Given the description of an element on the screen output the (x, y) to click on. 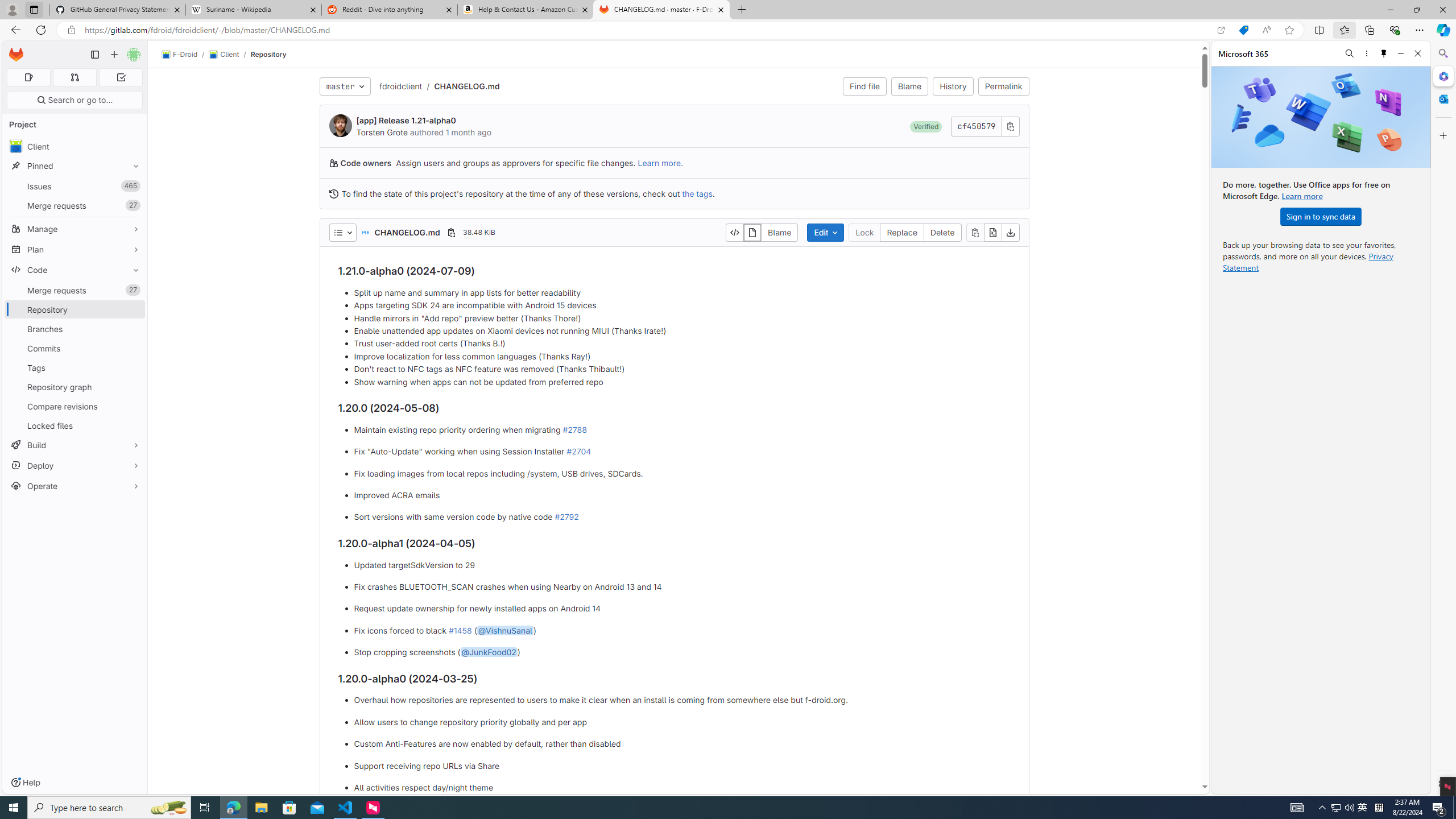
Tags (74, 367)
Pin Commits (132, 348)
@VishnuSanal (504, 629)
Pin Repository (132, 309)
Deploy (74, 465)
Permalink (1002, 85)
Client (74, 145)
GitHub General Privacy Statement - GitHub Docs (117, 9)
Learn more about Microsoft Office. (1302, 195)
Blame (909, 85)
